Given the description of an element on the screen output the (x, y) to click on. 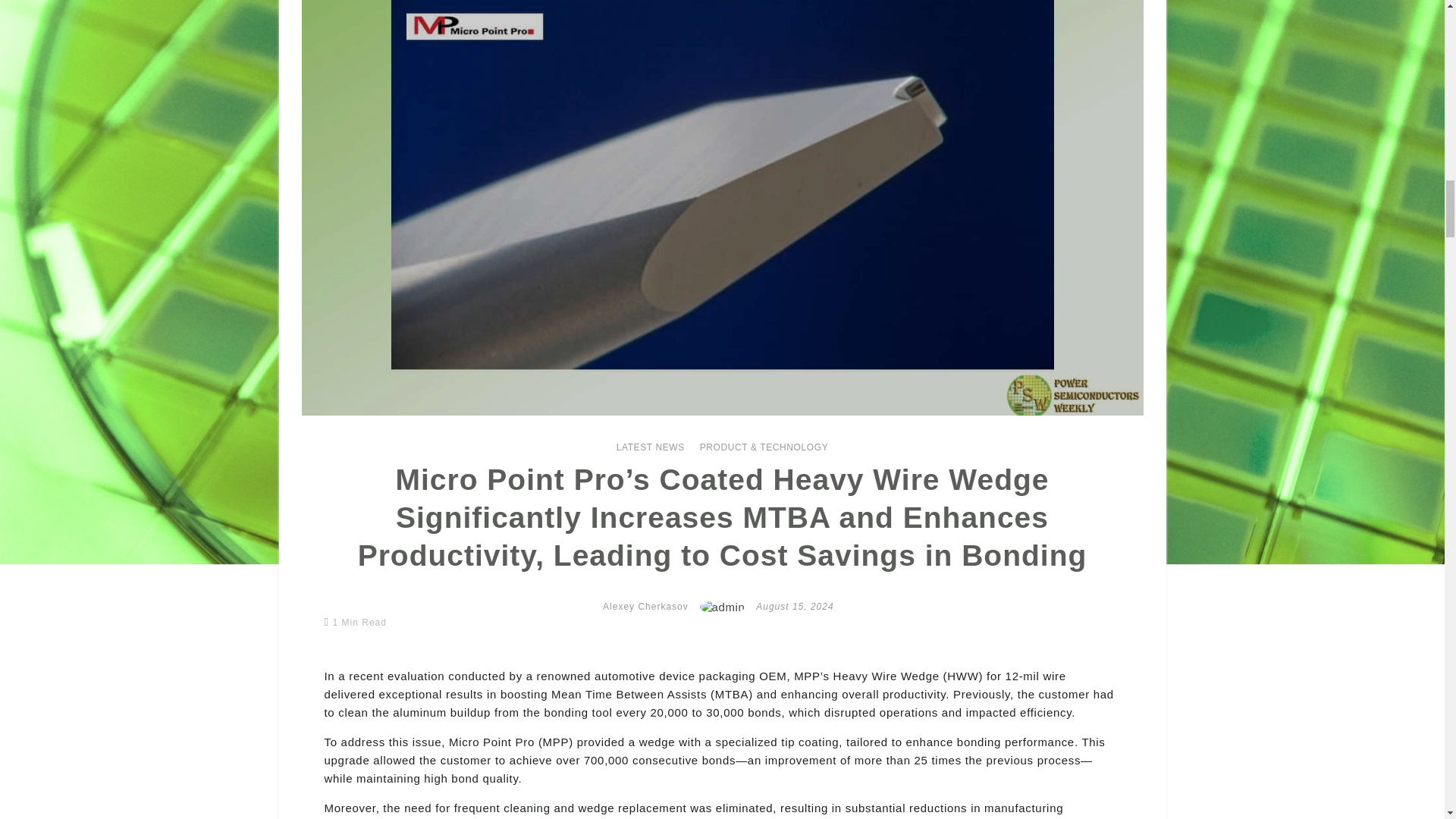
Alexey Cherkasov (645, 606)
LATEST NEWS (649, 447)
Posts by Alexey Cherkasov (645, 606)
